Given the description of an element on the screen output the (x, y) to click on. 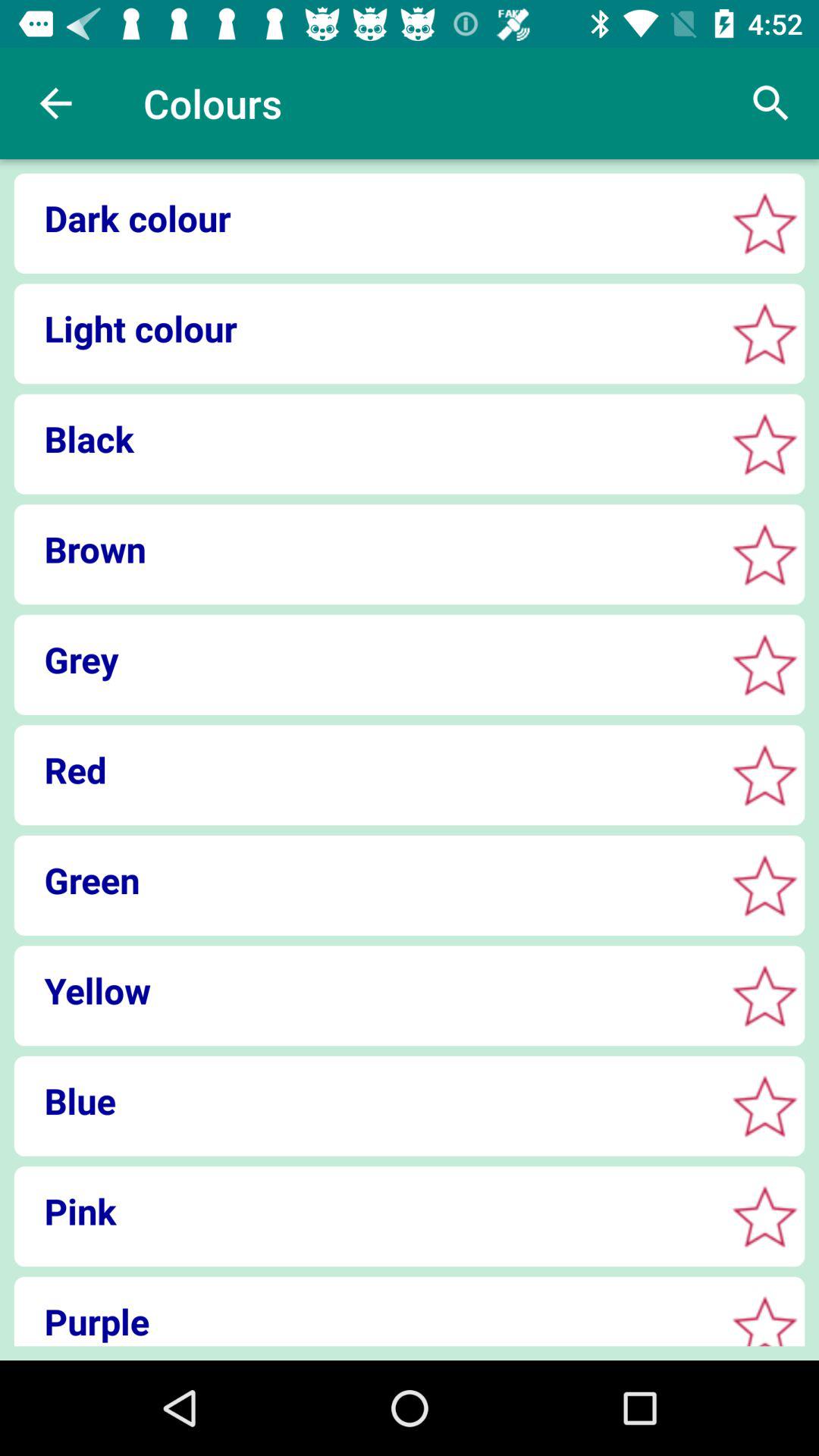
a place to choose to give the color blue a gold star (764, 1106)
